Given the description of an element on the screen output the (x, y) to click on. 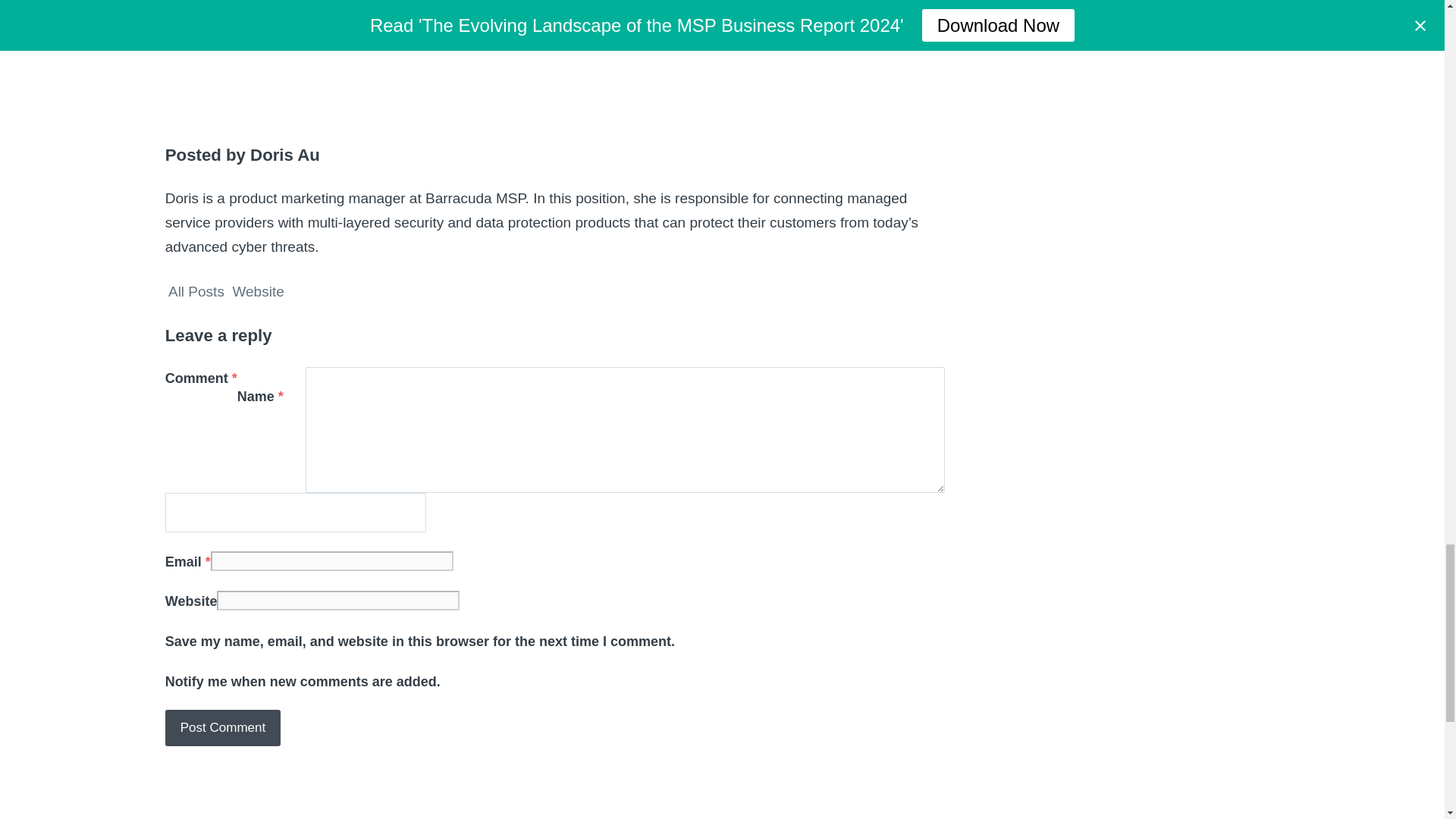
Post Comment (223, 728)
